Given the description of an element on the screen output the (x, y) to click on. 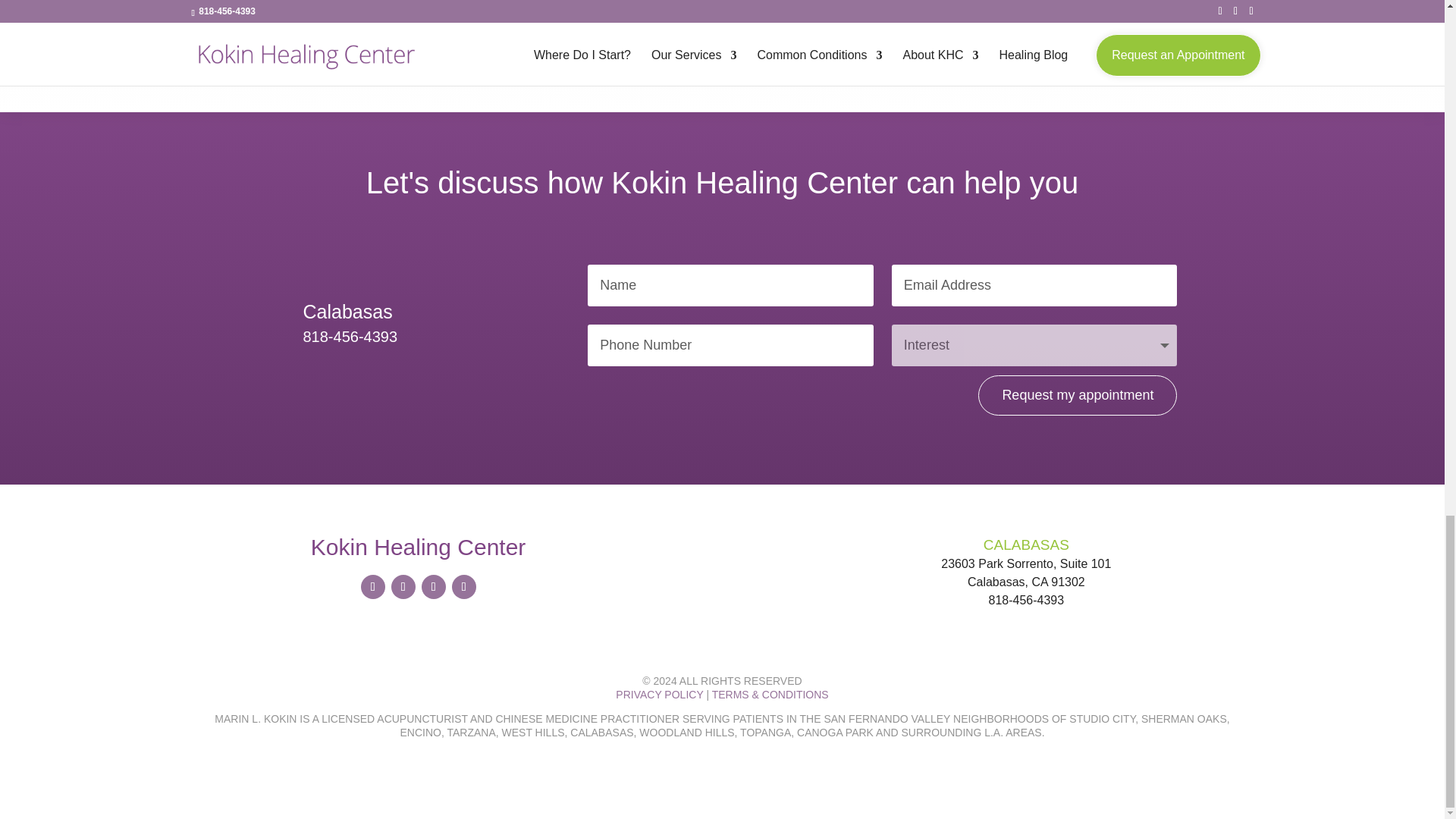
Follow on Twitter (402, 586)
Follow on LinkedIn (463, 586)
Follow on Instagram (433, 586)
Follow on Facebook (373, 586)
